Given the description of an element on the screen output the (x, y) to click on. 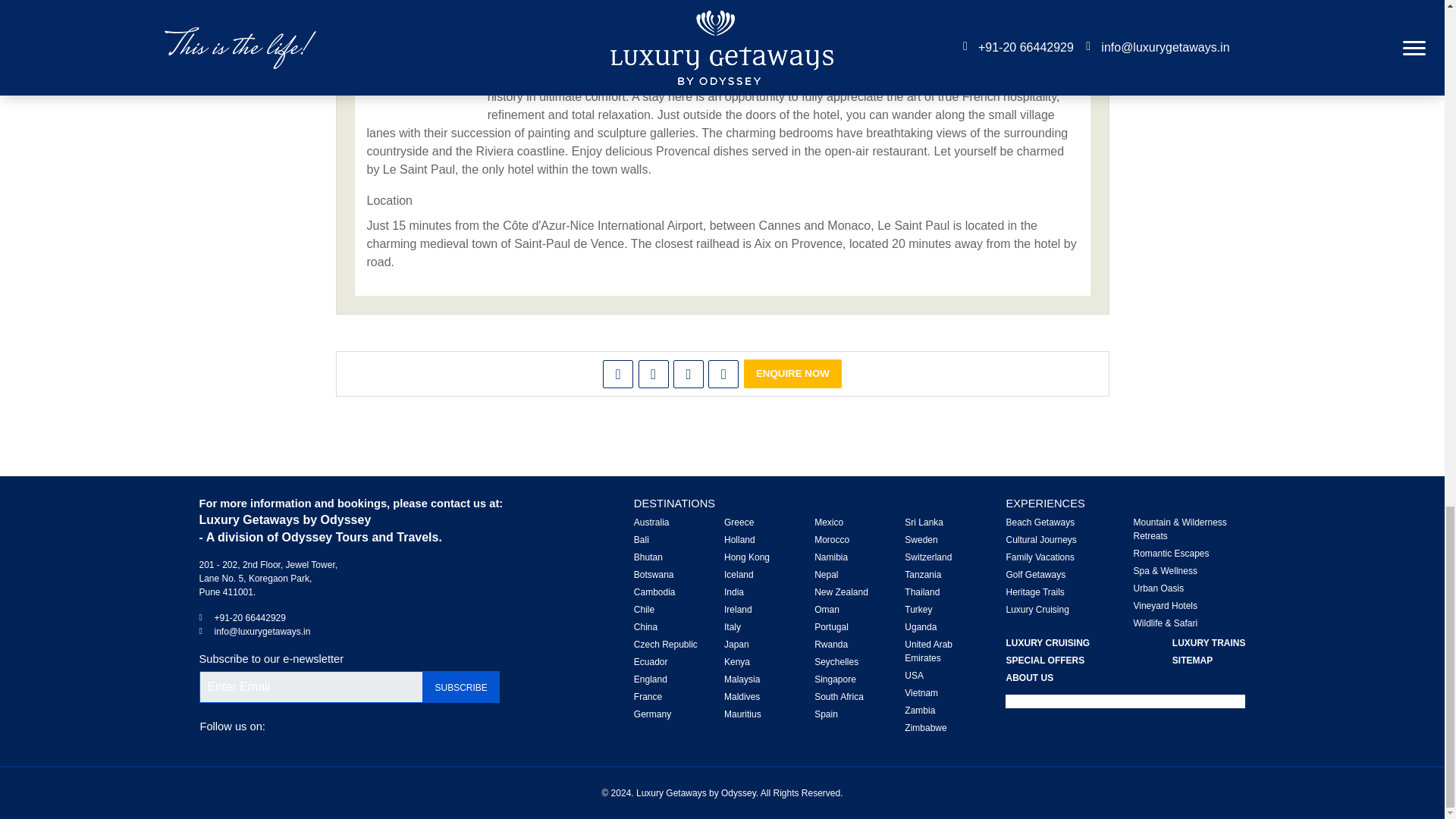
Enter Email (310, 686)
Subscribe (461, 686)
